Given the description of an element on the screen output the (x, y) to click on. 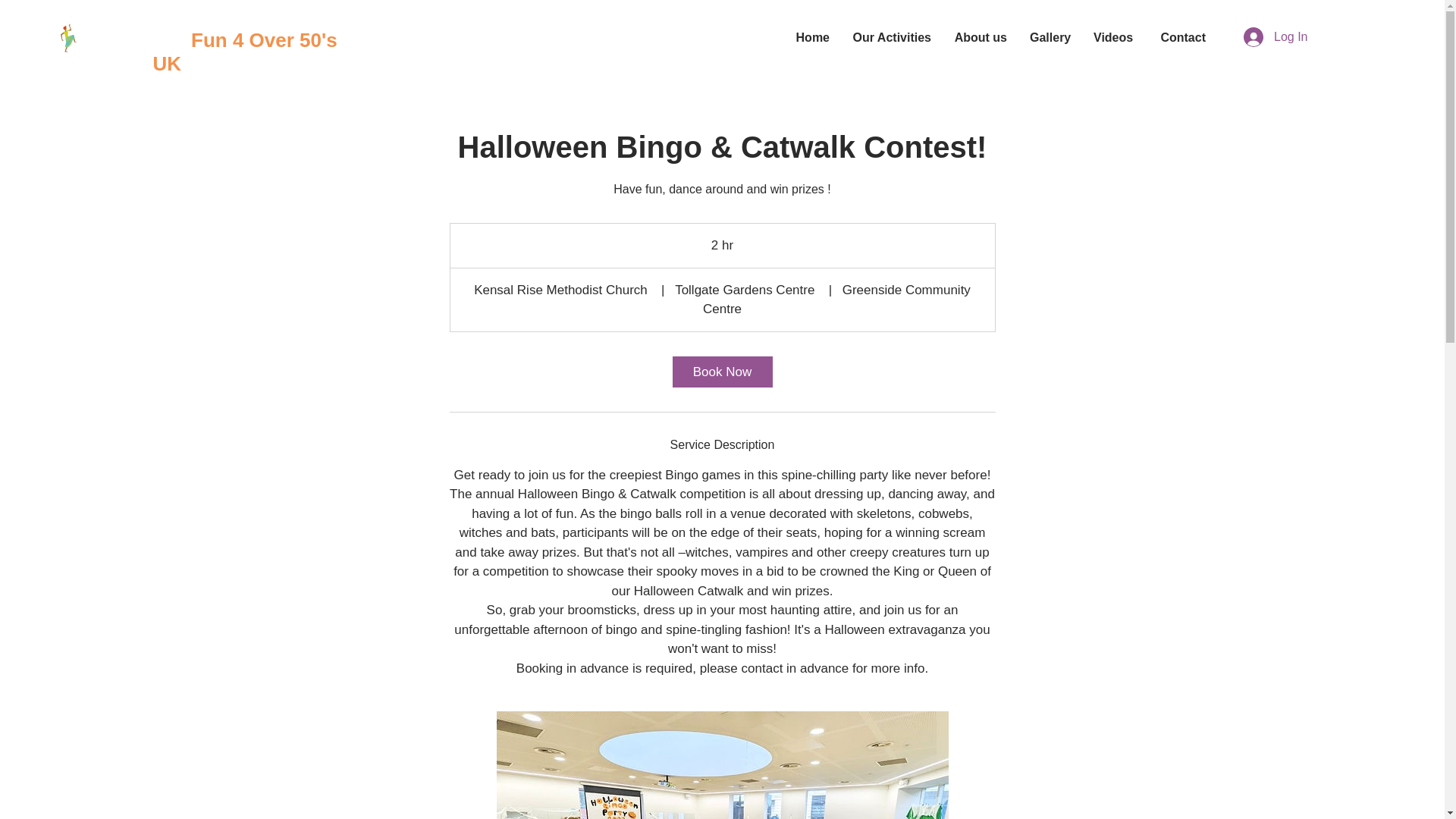
Our Activities (891, 37)
About us (979, 37)
Contact (1180, 37)
Gallery (1049, 37)
Book Now (721, 371)
Videos (1112, 37)
Log In (1264, 36)
Home (812, 37)
